Given the description of an element on the screen output the (x, y) to click on. 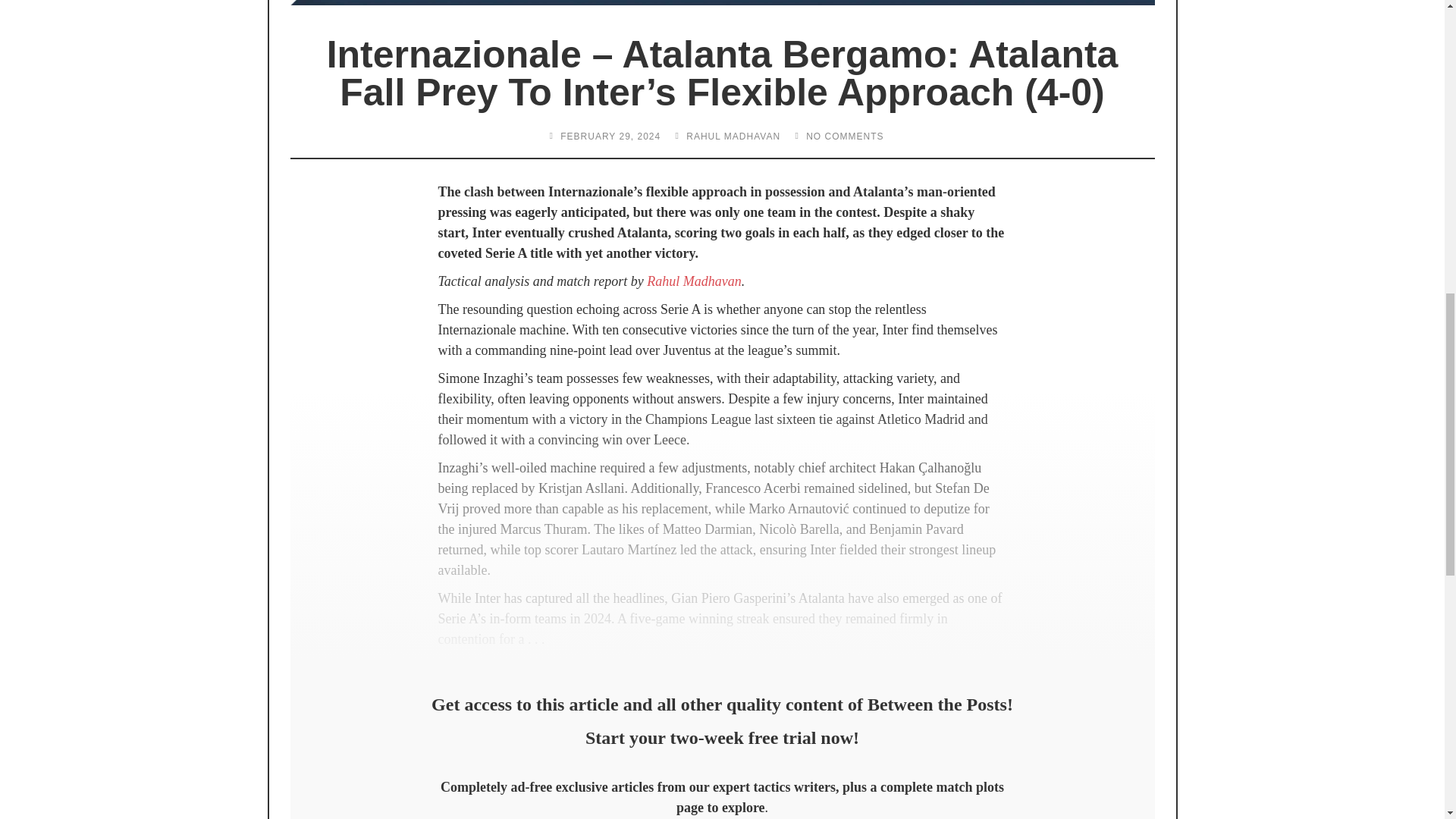
NO COMMENTS (844, 136)
Posts by Rahul Madhavan (732, 136)
Rahul Madhavan (693, 281)
RAHUL MADHAVAN (732, 136)
